Given the description of an element on the screen output the (x, y) to click on. 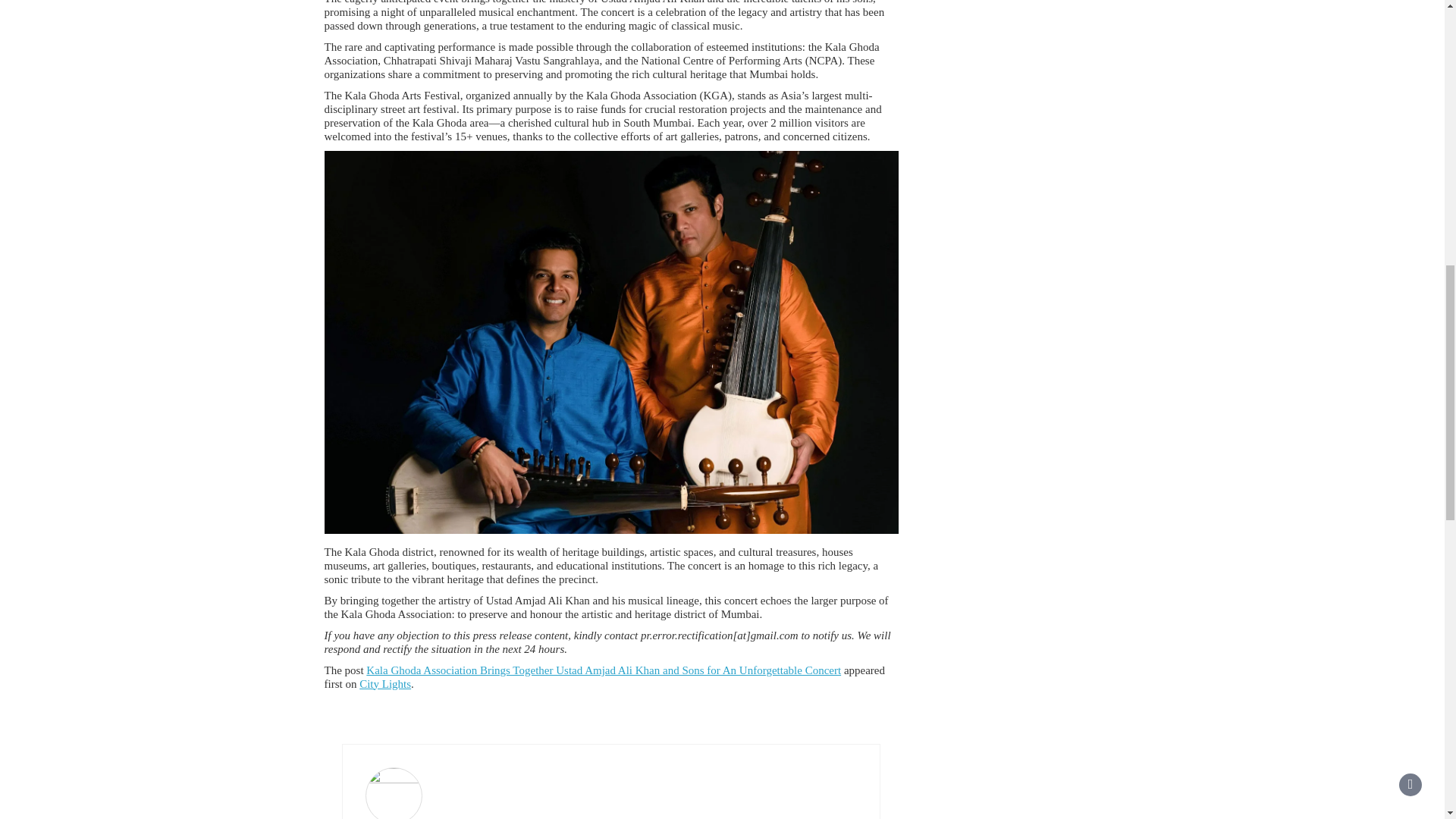
City Lights (384, 684)
